Given the description of an element on the screen output the (x, y) to click on. 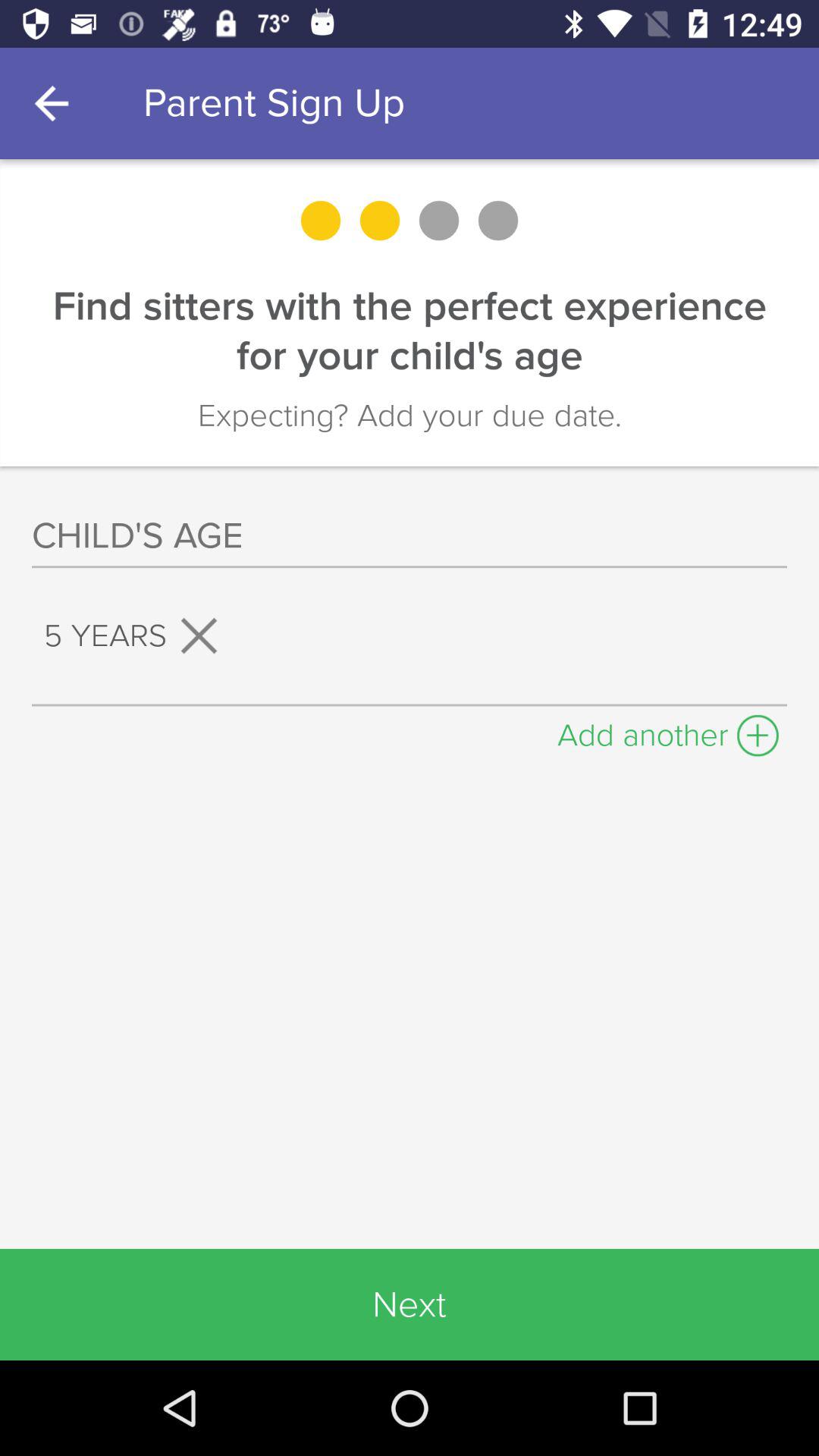
press the item above find sitters with item (55, 103)
